Given the description of an element on the screen output the (x, y) to click on. 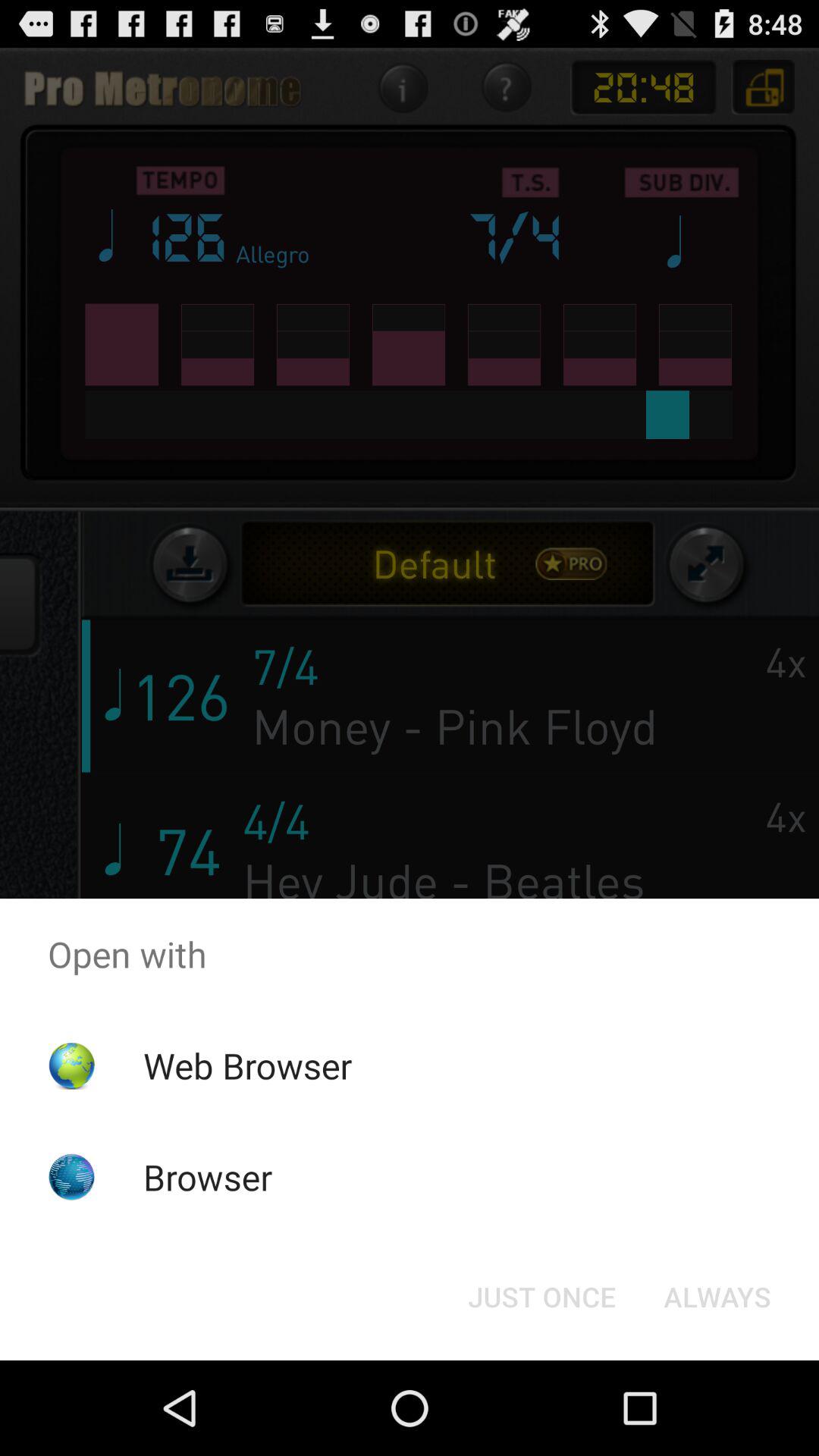
tap button next to always (541, 1296)
